Given the description of an element on the screen output the (x, y) to click on. 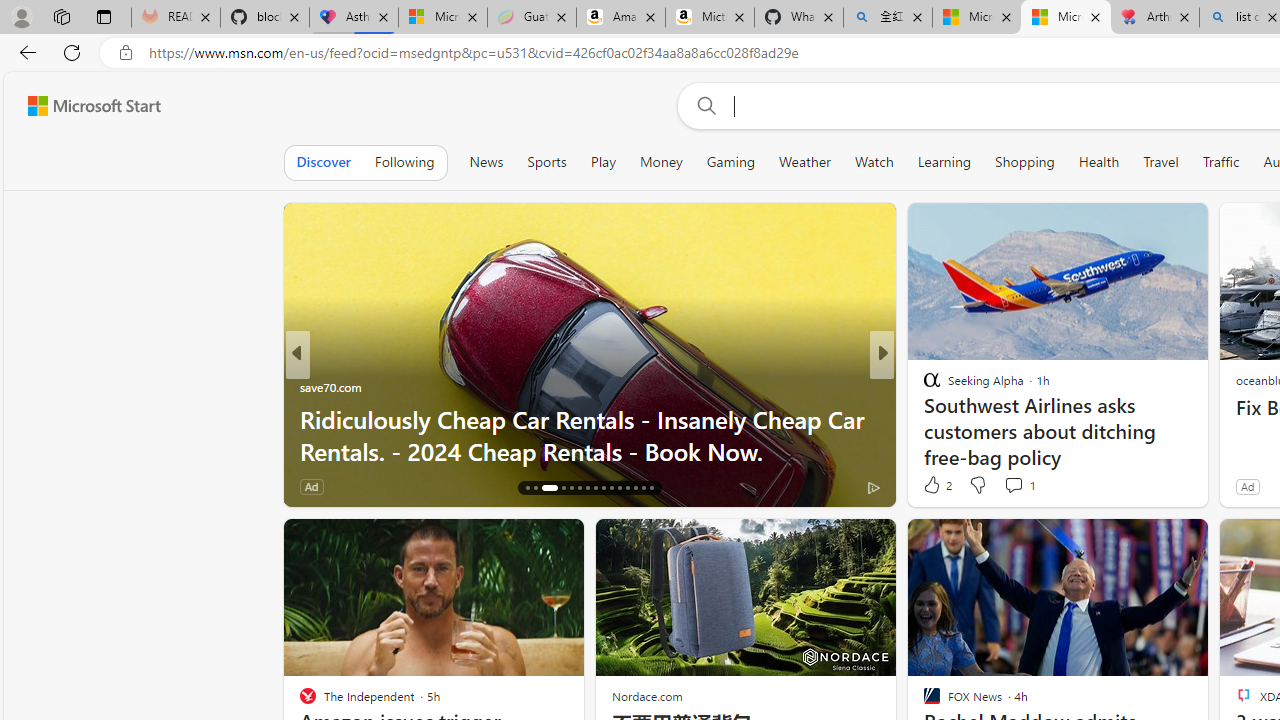
View comments 1 Comment (1013, 485)
View comments 31 Comment (1019, 485)
Health (1099, 161)
The Washington Post (923, 386)
HowToGeek (923, 386)
AutomationID: tab-23 (595, 487)
Sports (546, 162)
Traffic (1220, 161)
